Given the description of an element on the screen output the (x, y) to click on. 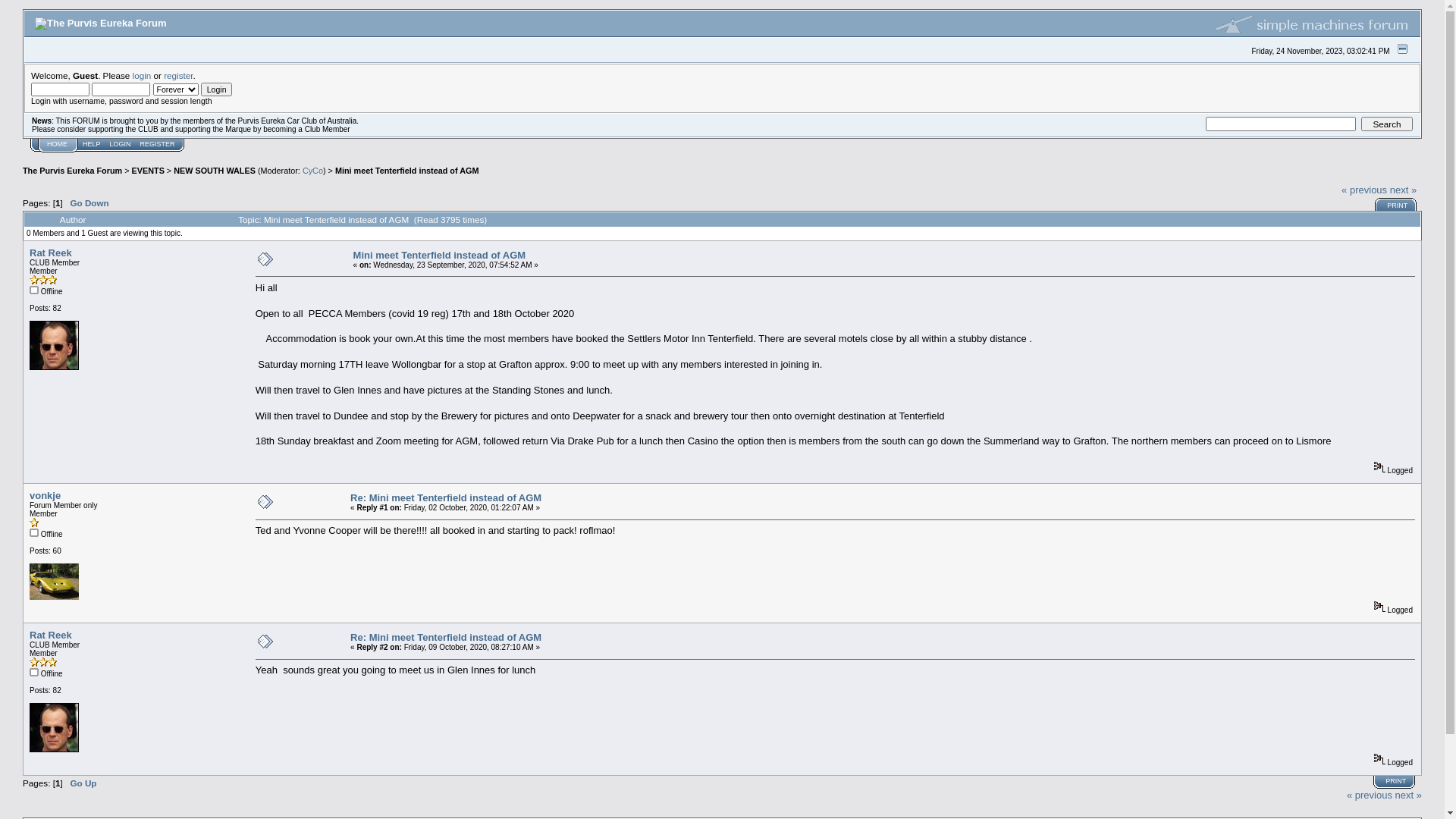
PRINT Element type: text (1396, 205)
vonkje Element type: text (44, 495)
Login Element type: text (216, 89)
REGISTER Element type: text (157, 143)
NEW SOUTH WALES Element type: text (214, 170)
Rat Reek Element type: text (50, 634)
Mini meet Tenterfield instead of AGM Element type: text (439, 254)
HOME Element type: text (57, 143)
HELP Element type: text (91, 143)
Go Down Element type: text (88, 202)
Re: Mini meet Tenterfield instead of AGM Element type: text (445, 497)
login Element type: text (141, 75)
Go Up Element type: text (82, 782)
PRINT Element type: text (1395, 780)
The Purvis Eureka Forum Element type: text (72, 170)
LOGIN Element type: text (120, 143)
Search Element type: text (1386, 123)
register Element type: text (177, 75)
CyCo Element type: text (312, 170)
Re: Mini meet Tenterfield instead of AGM Element type: text (445, 637)
Shrink or expand the header. Element type: hover (1402, 48)
Mini meet Tenterfield instead of AGM Element type: text (407, 170)
EVENTS Element type: text (147, 170)
Rat Reek Element type: text (50, 252)
